Given the description of an element on the screen output the (x, y) to click on. 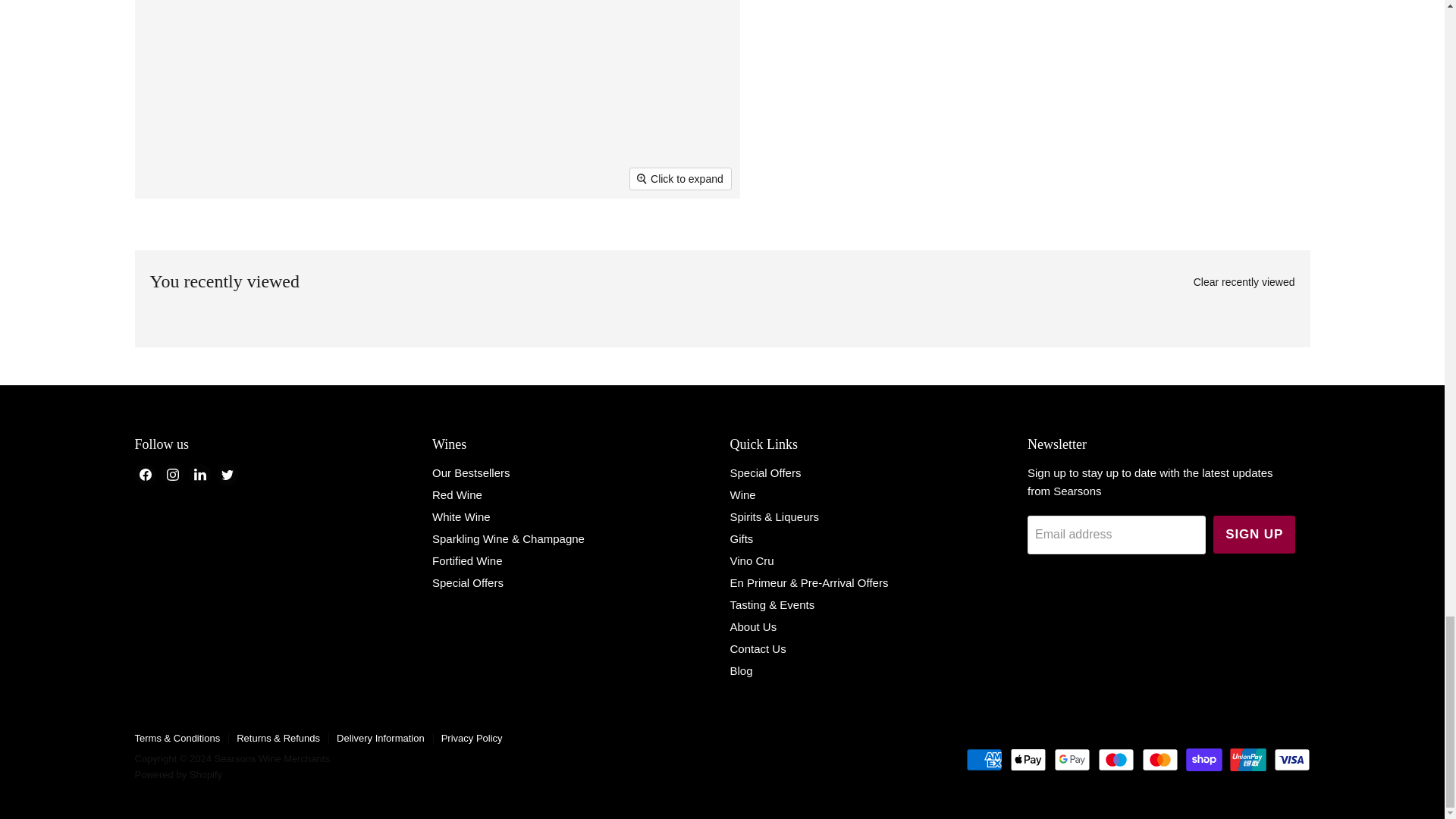
Facebook (145, 474)
Instagram (172, 474)
LinkedIn (200, 474)
Twitter (227, 474)
